Given the description of an element on the screen output the (x, y) to click on. 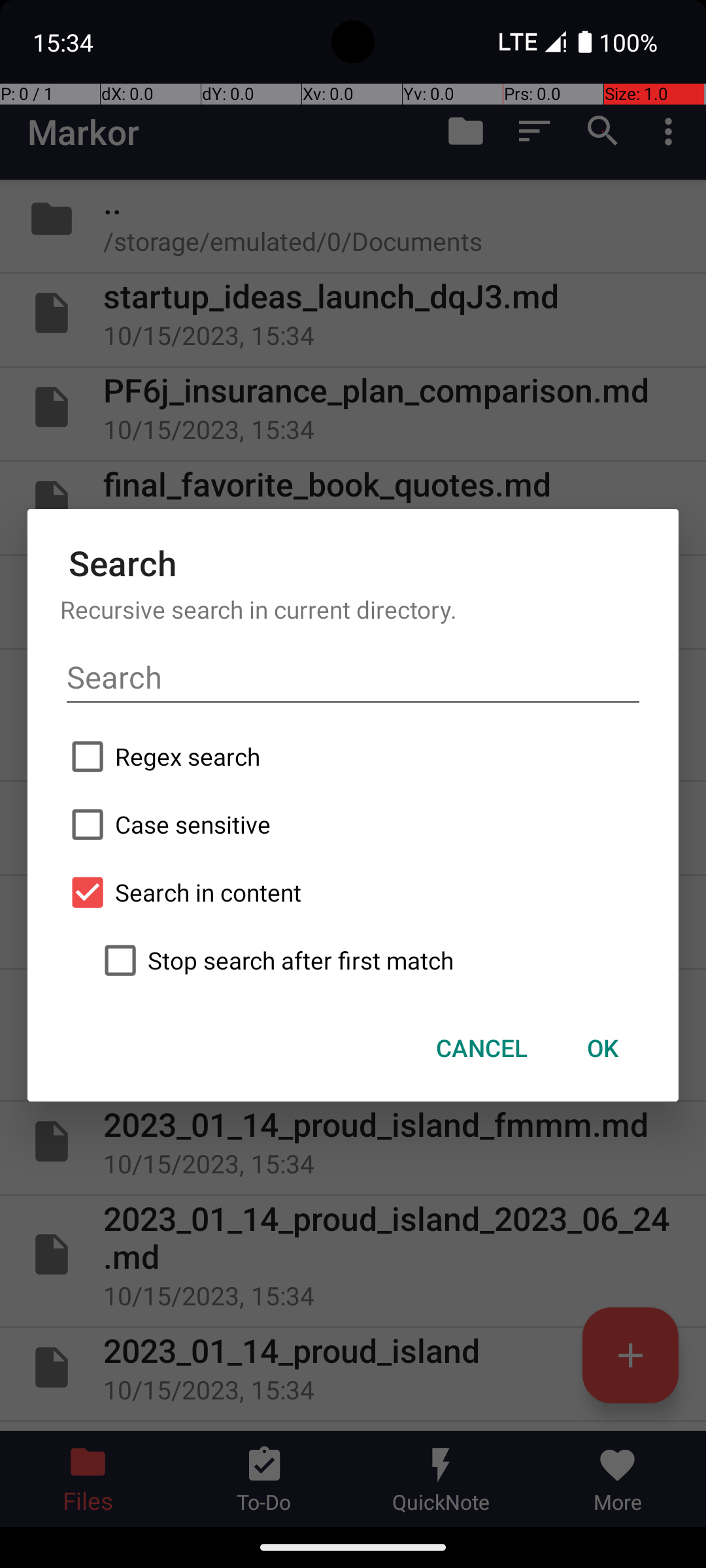
Stop search after first match Element type: android.widget.CheckBox (368, 959)
